Given the description of an element on the screen output the (x, y) to click on. 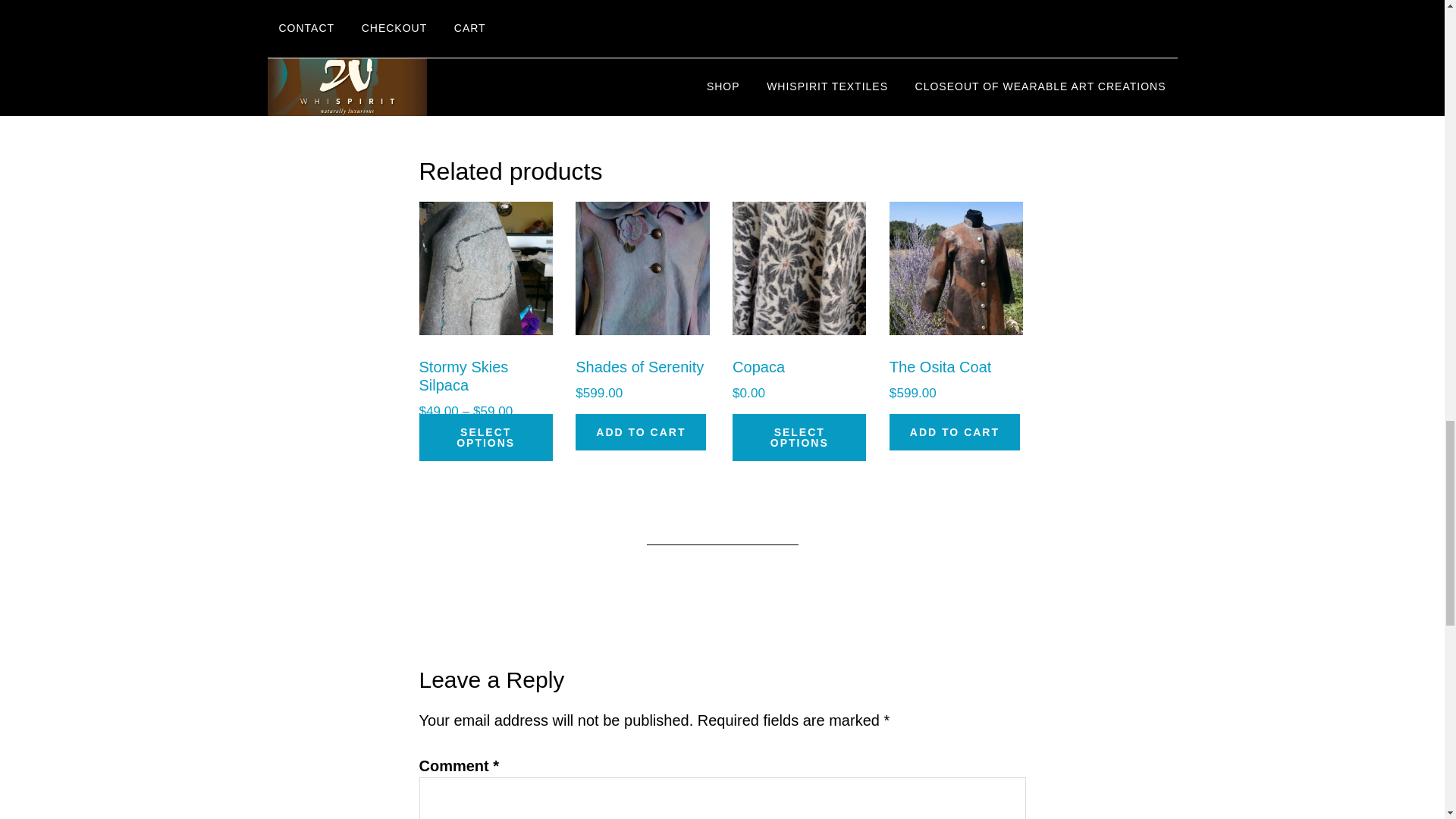
ADD TO CART (640, 432)
SELECT OPTIONS (799, 437)
ADD TO CART (954, 432)
SELECT OPTIONS (485, 437)
